Given the description of an element on the screen output the (x, y) to click on. 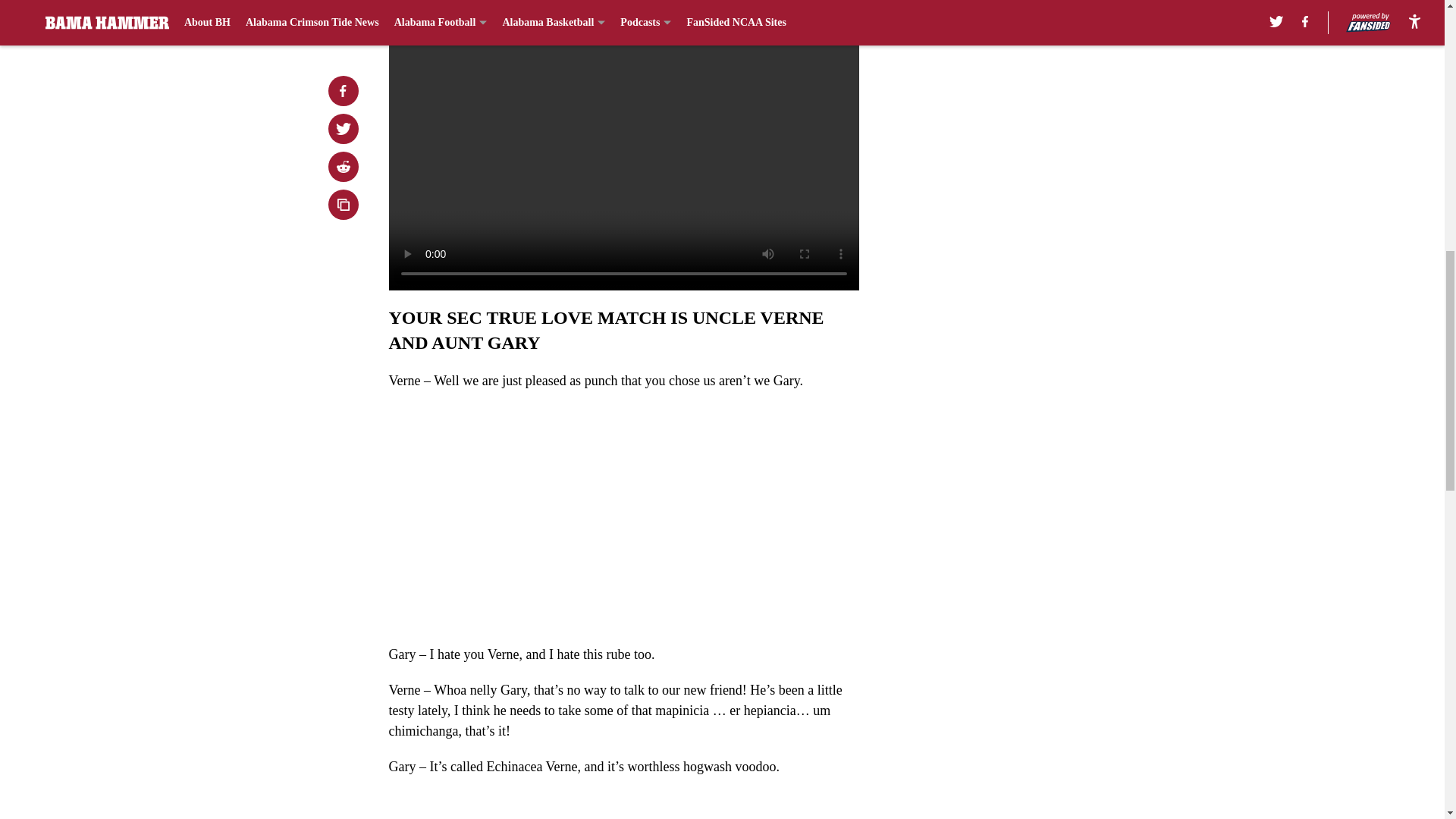
3rd party ad content (1047, 84)
3rd party ad content (1047, 294)
Prev (433, 5)
Next (813, 5)
